Given the description of an element on the screen output the (x, y) to click on. 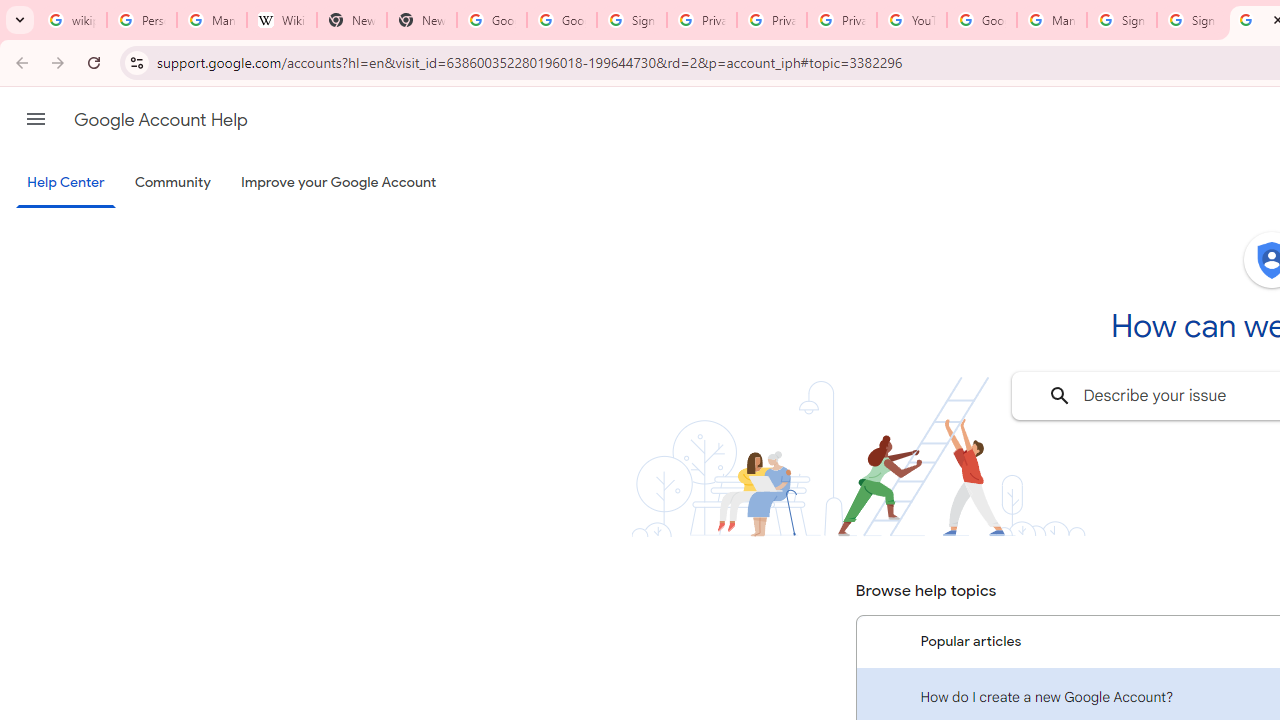
Wikipedia:Edit requests - Wikipedia (282, 20)
